Given the description of an element on the screen output the (x, y) to click on. 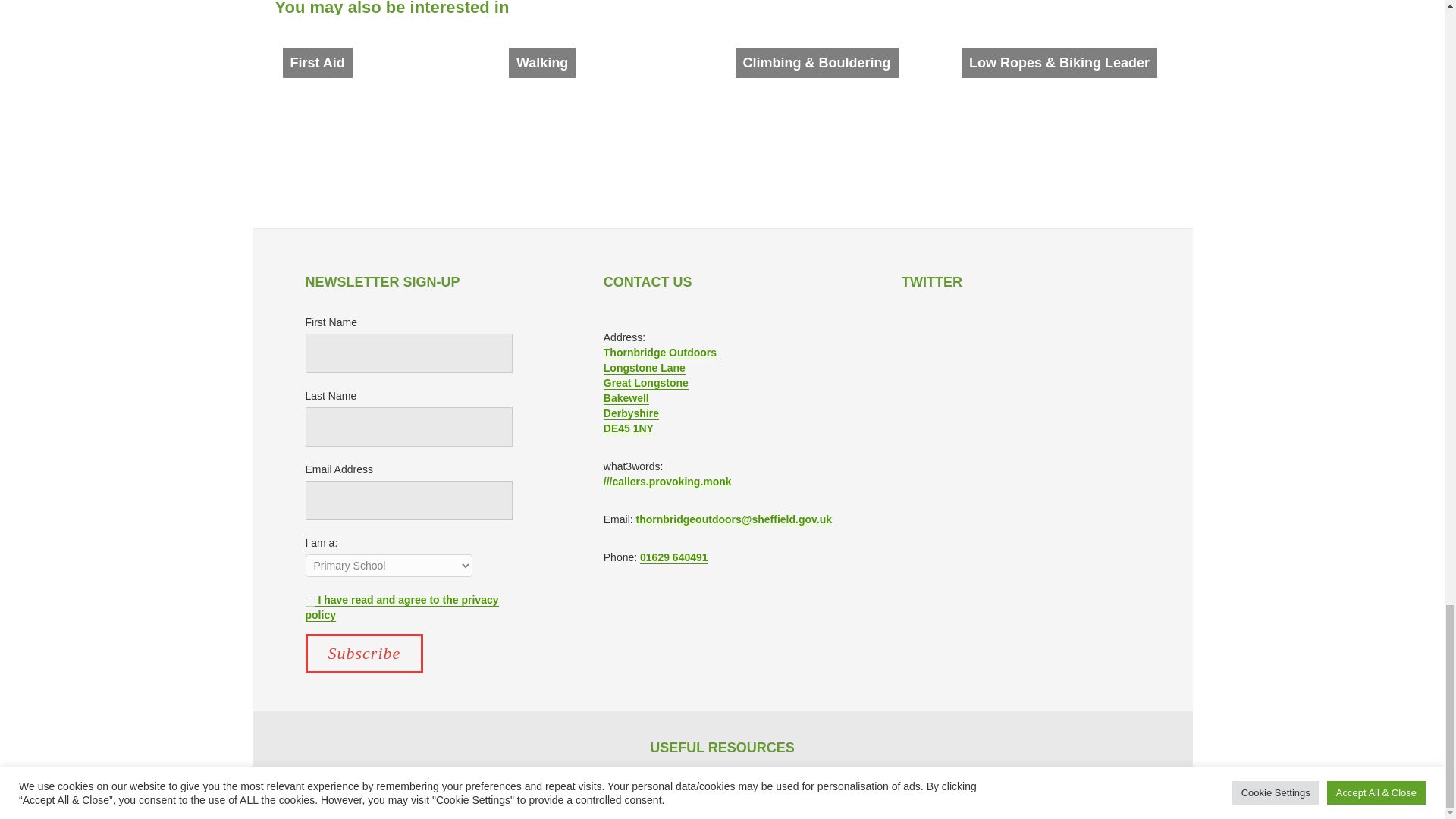
1 (309, 602)
Subscribe (363, 653)
